Given the description of an element on the screen output the (x, y) to click on. 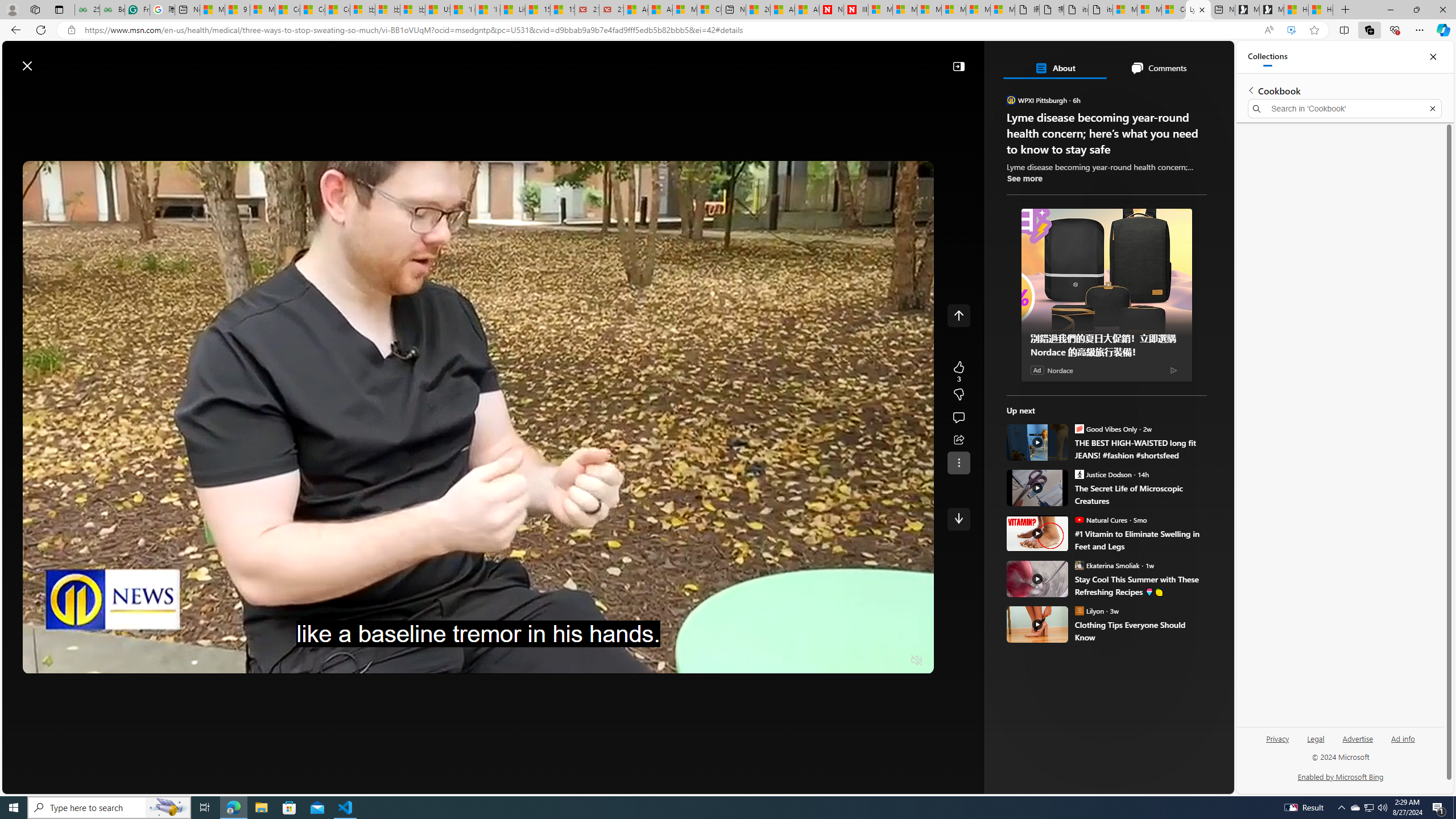
Microsoft account | Privacy (1149, 9)
3 (958, 394)
Feedback (1190, 784)
Enhance video (1291, 29)
THE BEST HIGH-WAISTED long fit JEANS! #fashion #shortsfeed (1037, 442)
Privacy (1277, 742)
Open settings (1208, 60)
AutomationID: e5rZOEMGacU1 (958, 518)
